Given the description of an element on the screen output the (x, y) to click on. 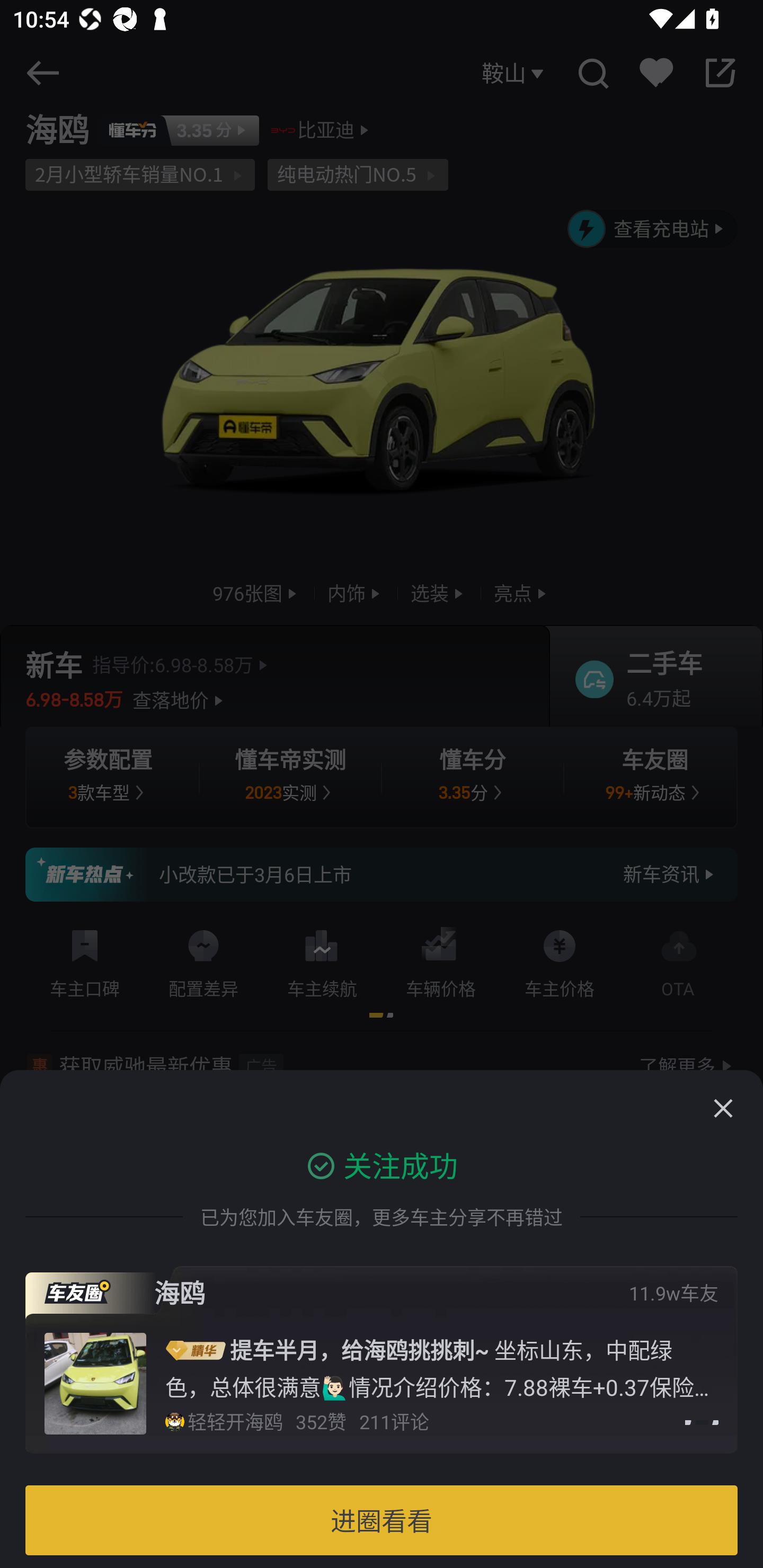
 (722, 1108)
进圈看看 (381, 1519)
